Given the description of an element on the screen output the (x, y) to click on. 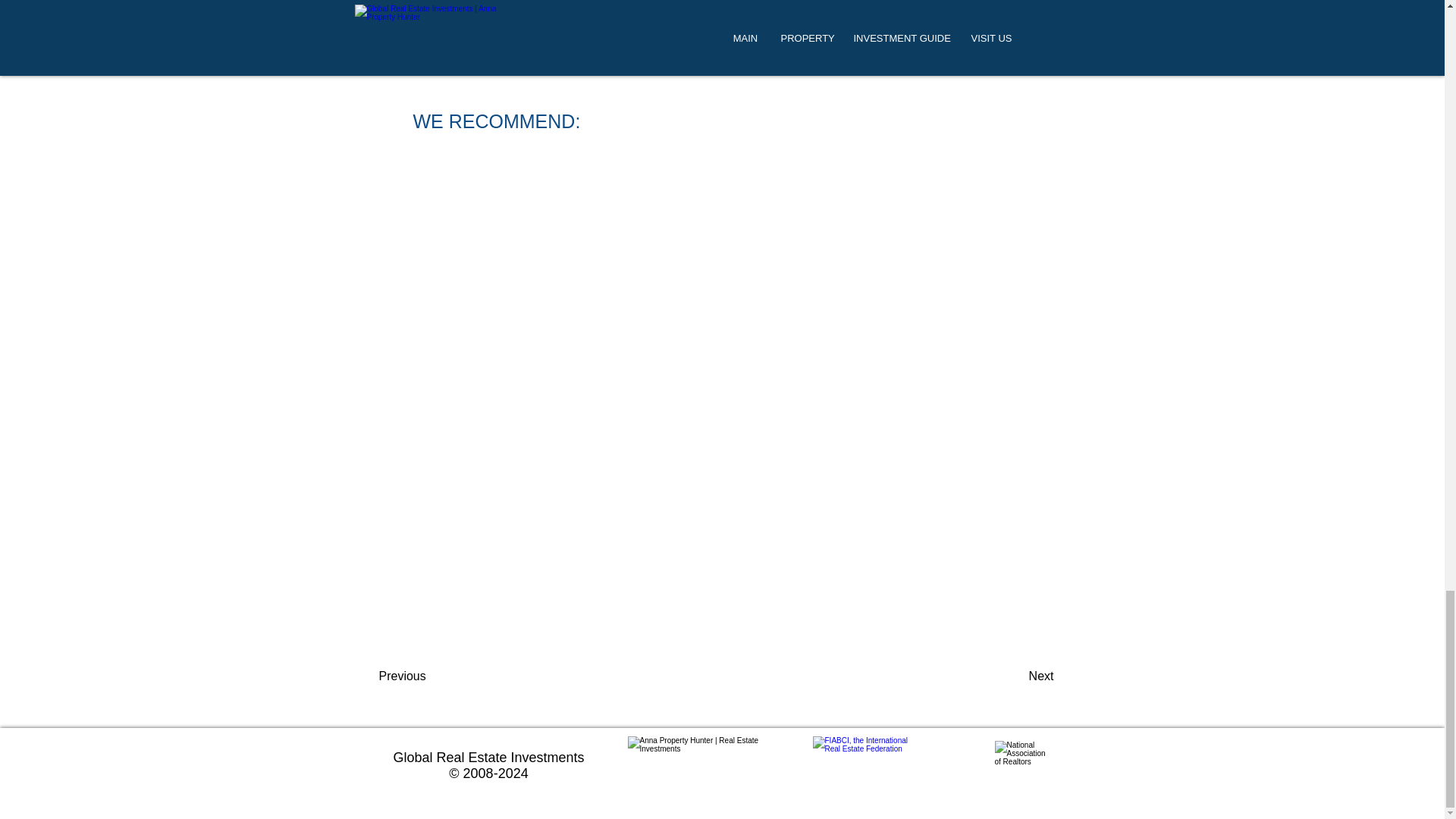
FIABCI, the International Real Estate Federation (863, 769)
Previous (428, 675)
Next (1016, 675)
